Given the description of an element on the screen output the (x, y) to click on. 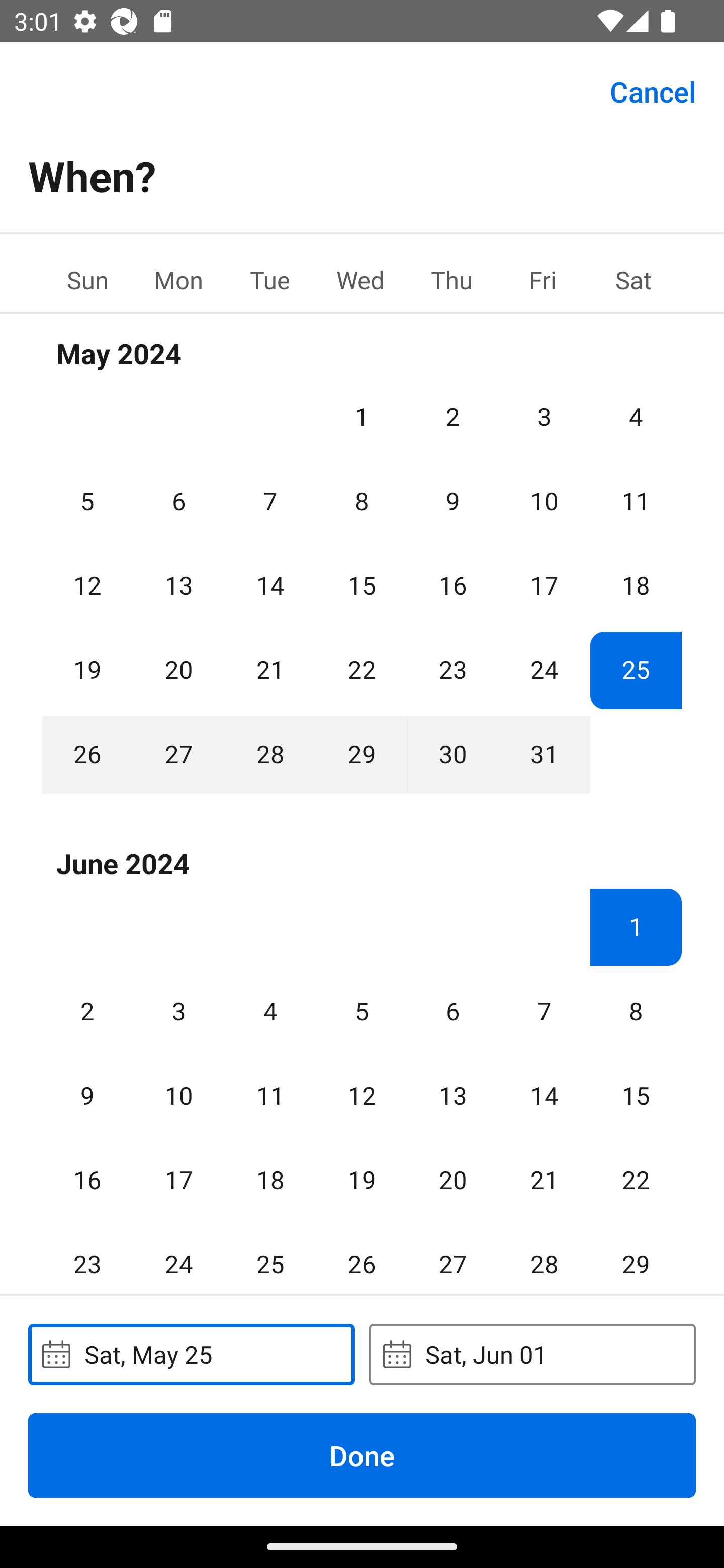
Cancel (652, 90)
Sat, May 25 (191, 1353)
Sat, Jun 01 (532, 1353)
Done (361, 1454)
